Given the description of an element on the screen output the (x, y) to click on. 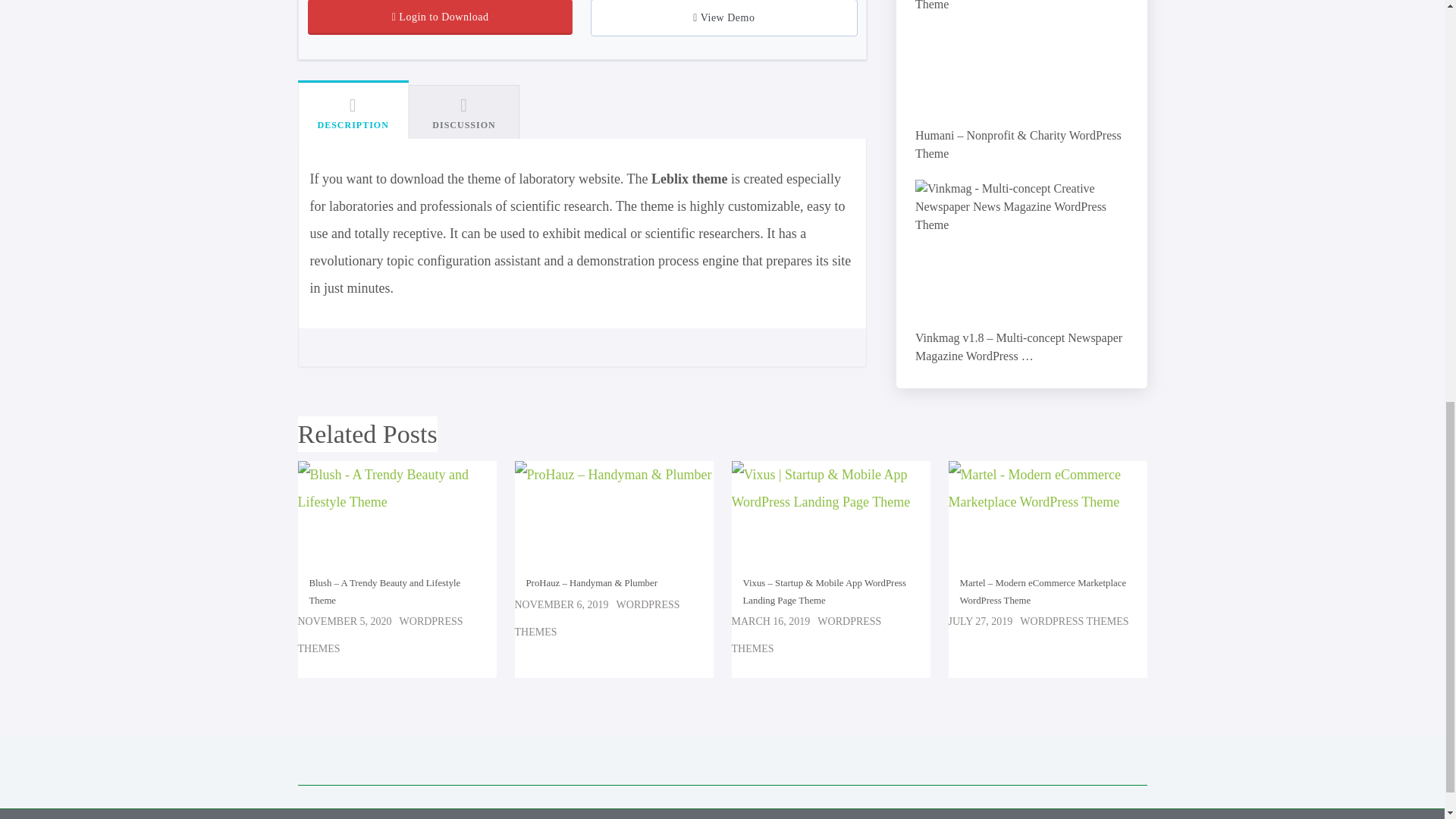
DISCUSSION (464, 112)
View Demo (724, 18)
Login to Download (439, 17)
Download link are locked (439, 17)
View Demo (724, 18)
DESCRIPTION (352, 109)
